Given the description of an element on the screen output the (x, y) to click on. 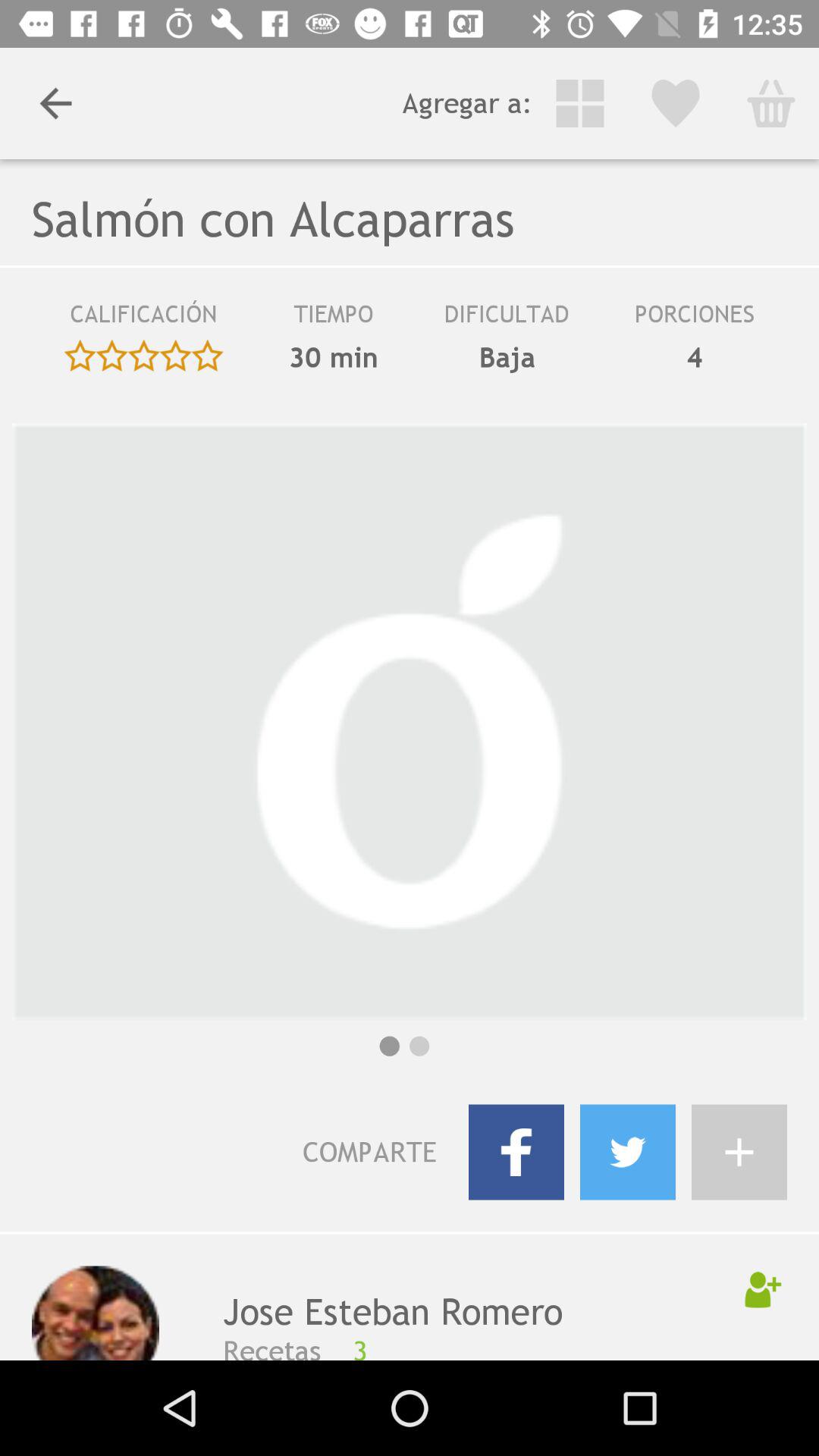
choose icon next to the 30 min icon (143, 319)
